Given the description of an element on the screen output the (x, y) to click on. 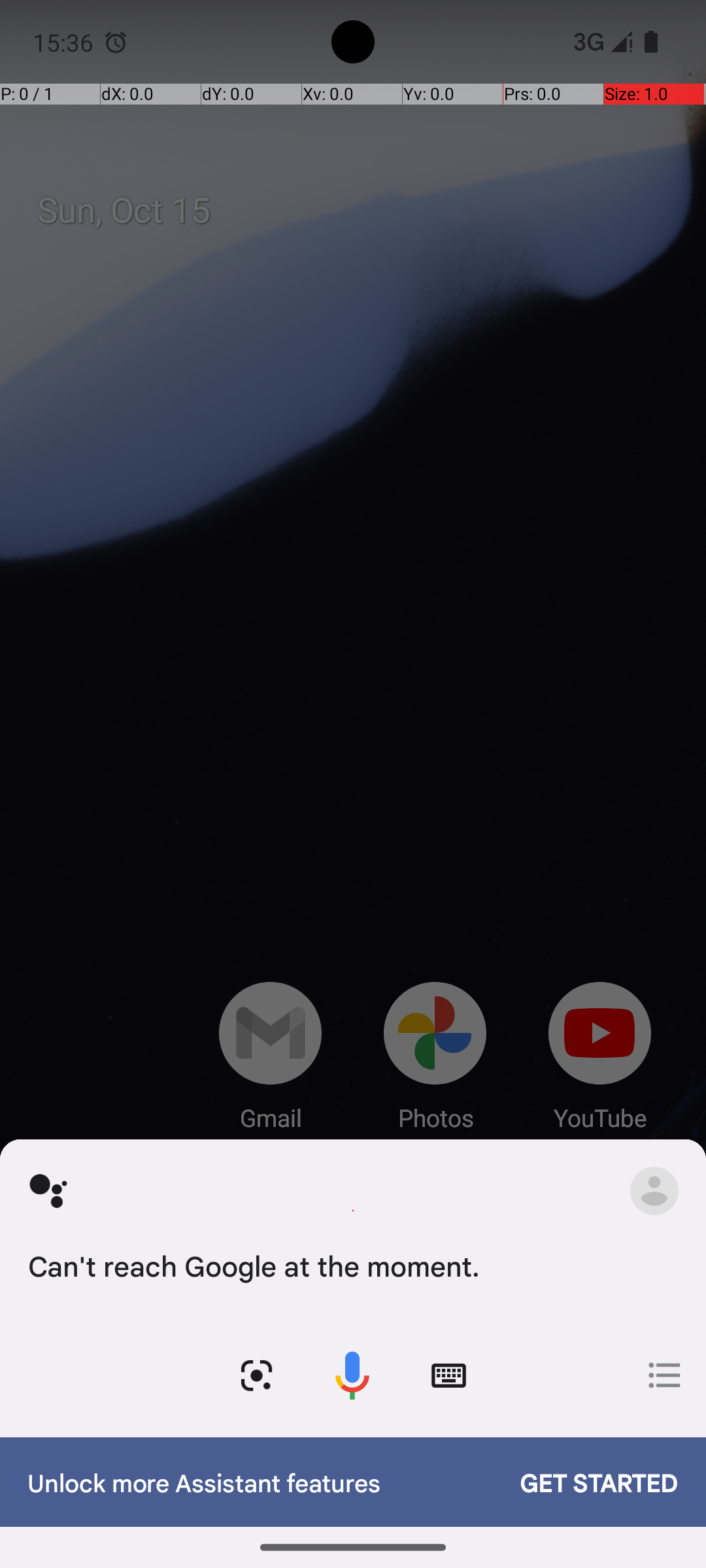
Voice search button, tap to speak Element type: android.view.View (351, 1375)
Unlock more Assistant features Element type: android.widget.TextView (259, 1481)
GET STARTED Element type: android.widget.TextView (585, 1481)
Google assistant Element type: android.widget.ImageView (48, 1190)
Google Assistant menu. Element type: android.widget.ImageView (654, 1190)
Can't reach Google at the moment. Element type: android.widget.TextView (349, 1264)
